Given the description of an element on the screen output the (x, y) to click on. 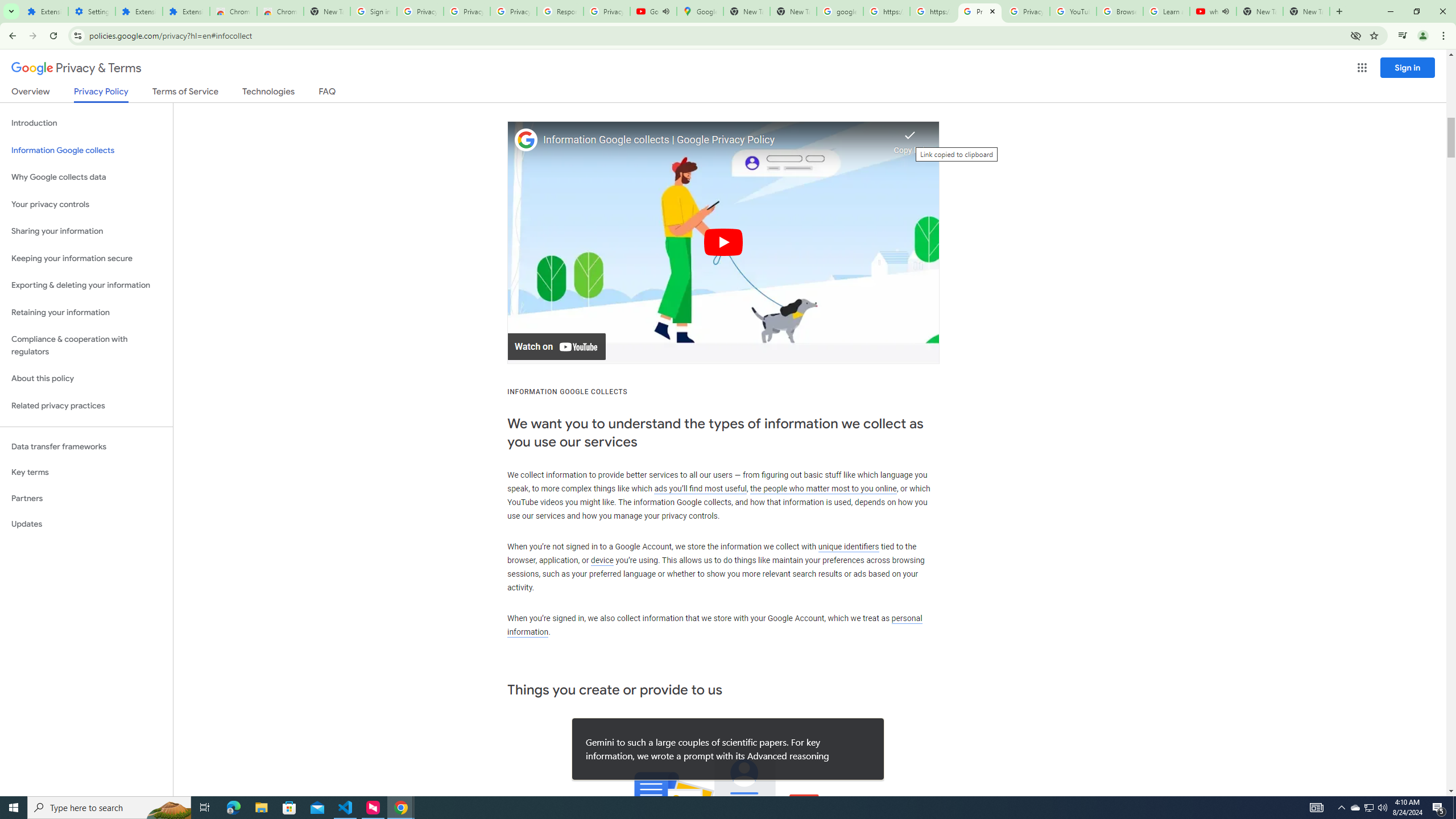
Privacy Policy (100, 94)
device (601, 560)
Chrome Web Store - Themes (279, 11)
Extensions (44, 11)
Compliance & cooperation with regulators (86, 345)
Why Google collects data (86, 176)
Watch on YouTube (556, 346)
